Given the description of an element on the screen output the (x, y) to click on. 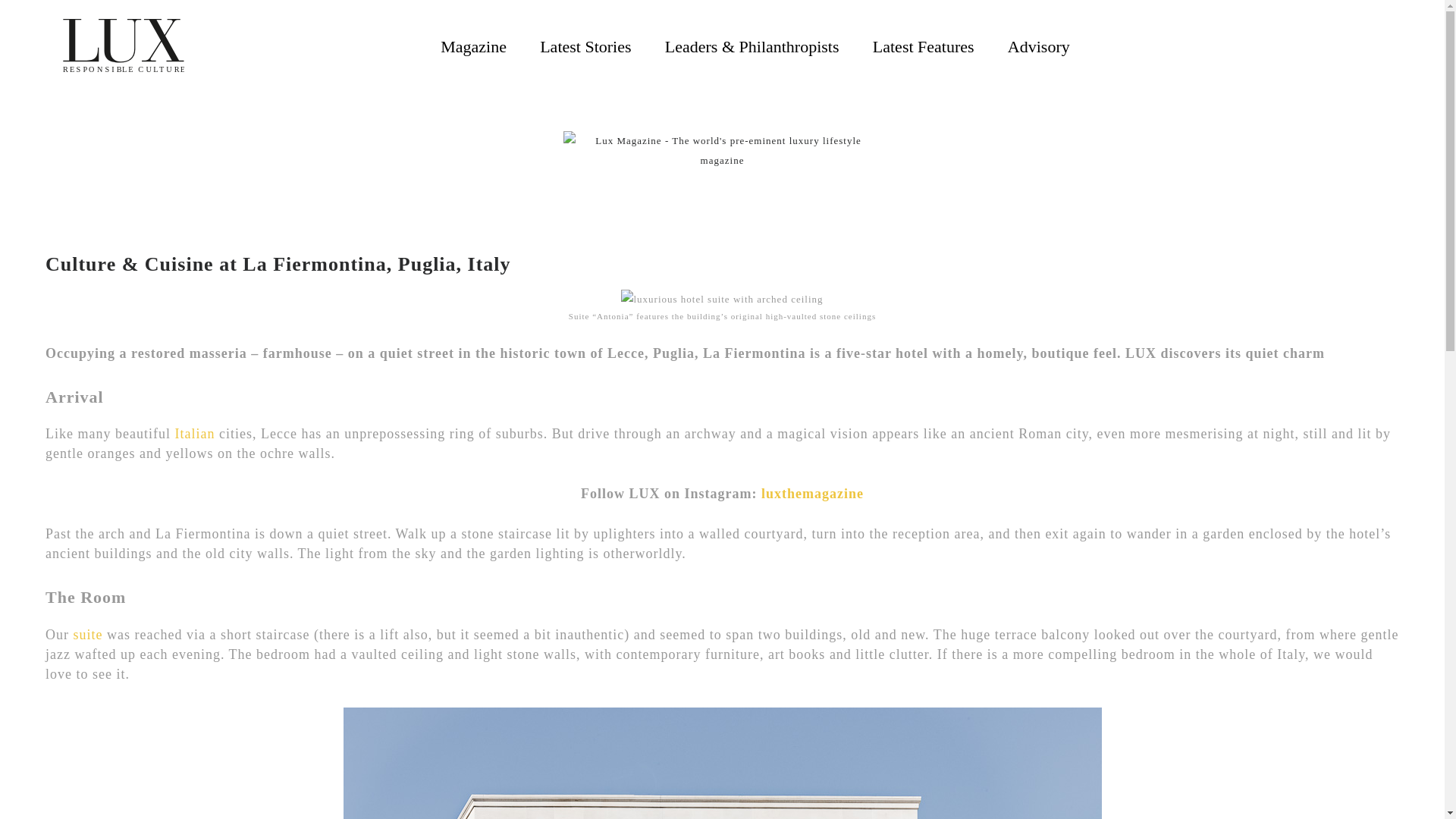
Latest Features (923, 46)
Magazine (473, 46)
Advisory (1038, 46)
Latest Stories (585, 46)
